Given the description of an element on the screen output the (x, y) to click on. 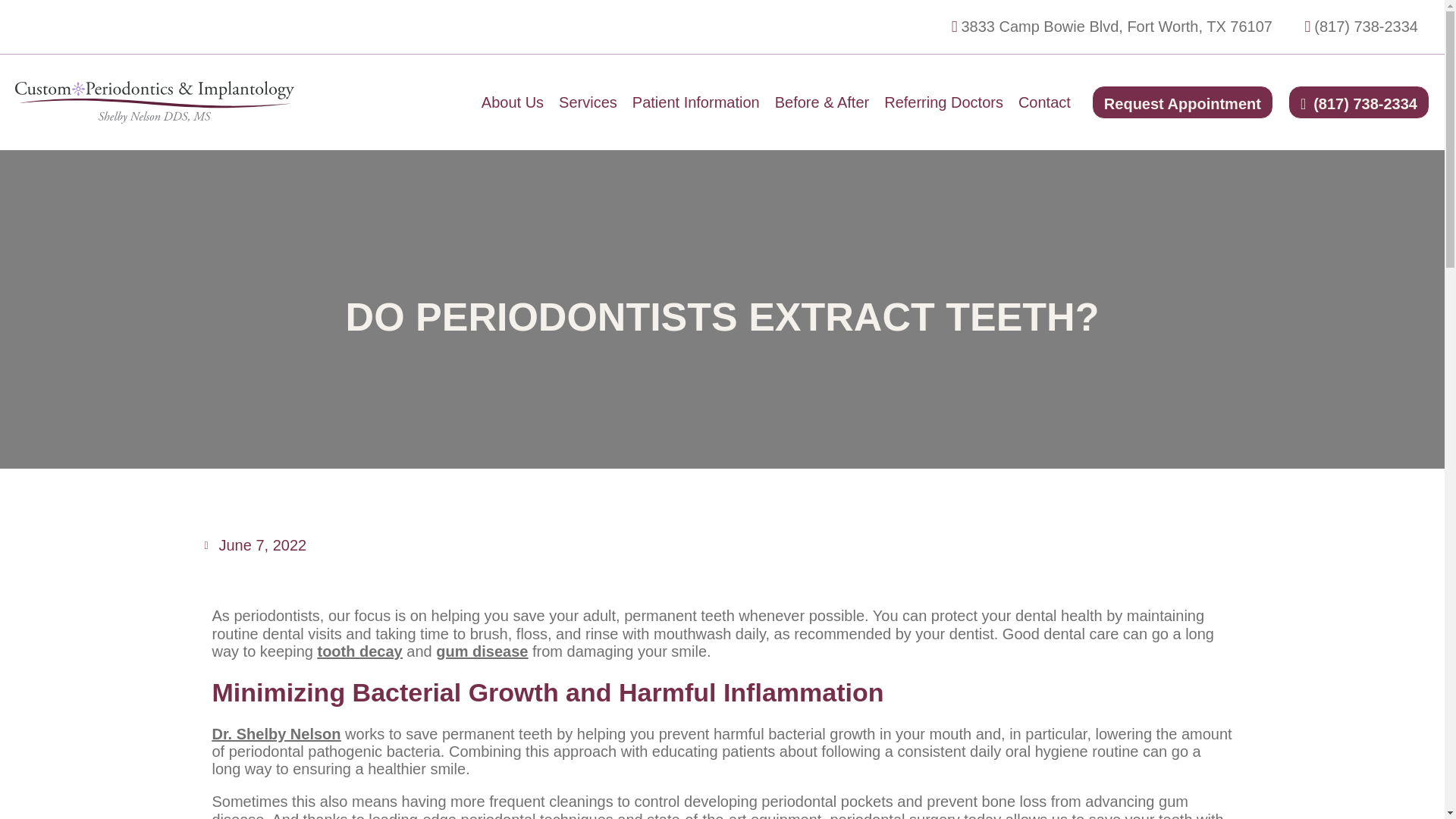
About Us (512, 102)
Services (588, 102)
Referring Doctors (943, 102)
Patient Information (695, 102)
3833 Camp Bowie Blvd, Fort Worth, TX 76107 (1104, 27)
Contact (1043, 102)
